Given the description of an element on the screen output the (x, y) to click on. 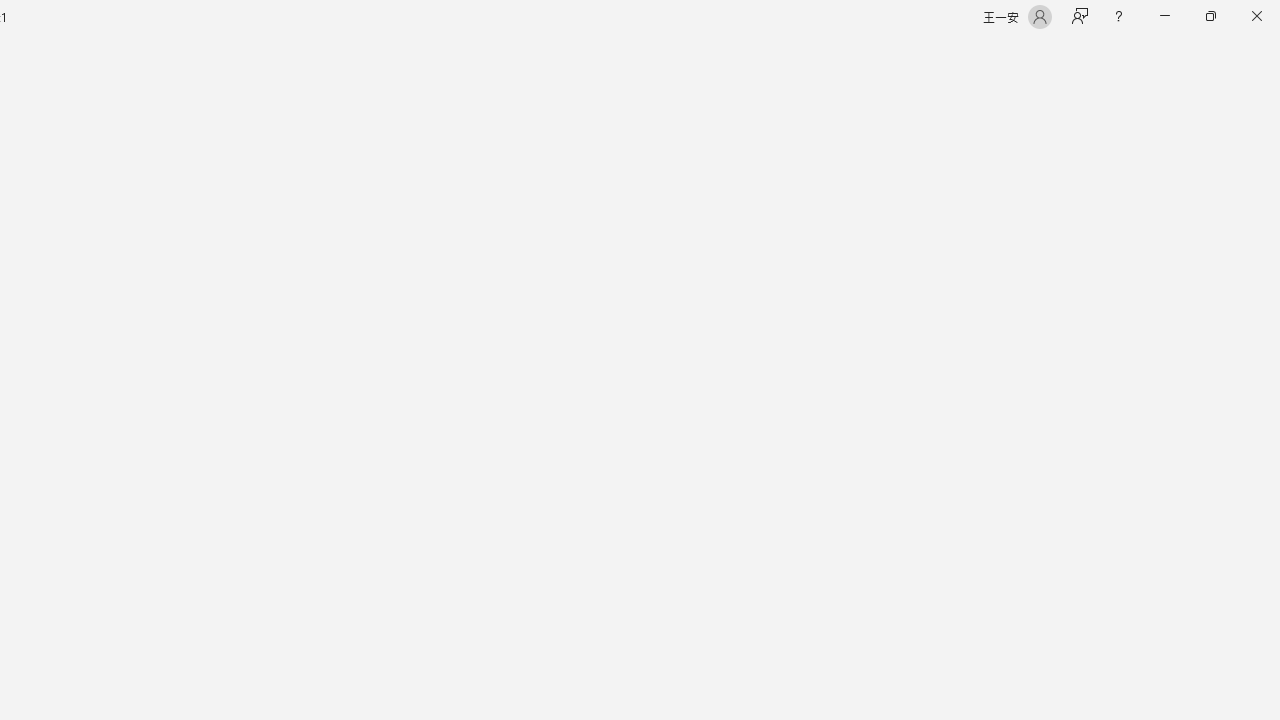
Help (1118, 16)
Restore Down (1210, 16)
Minimize (1164, 16)
Close (1256, 16)
